Given the description of an element on the screen output the (x, y) to click on. 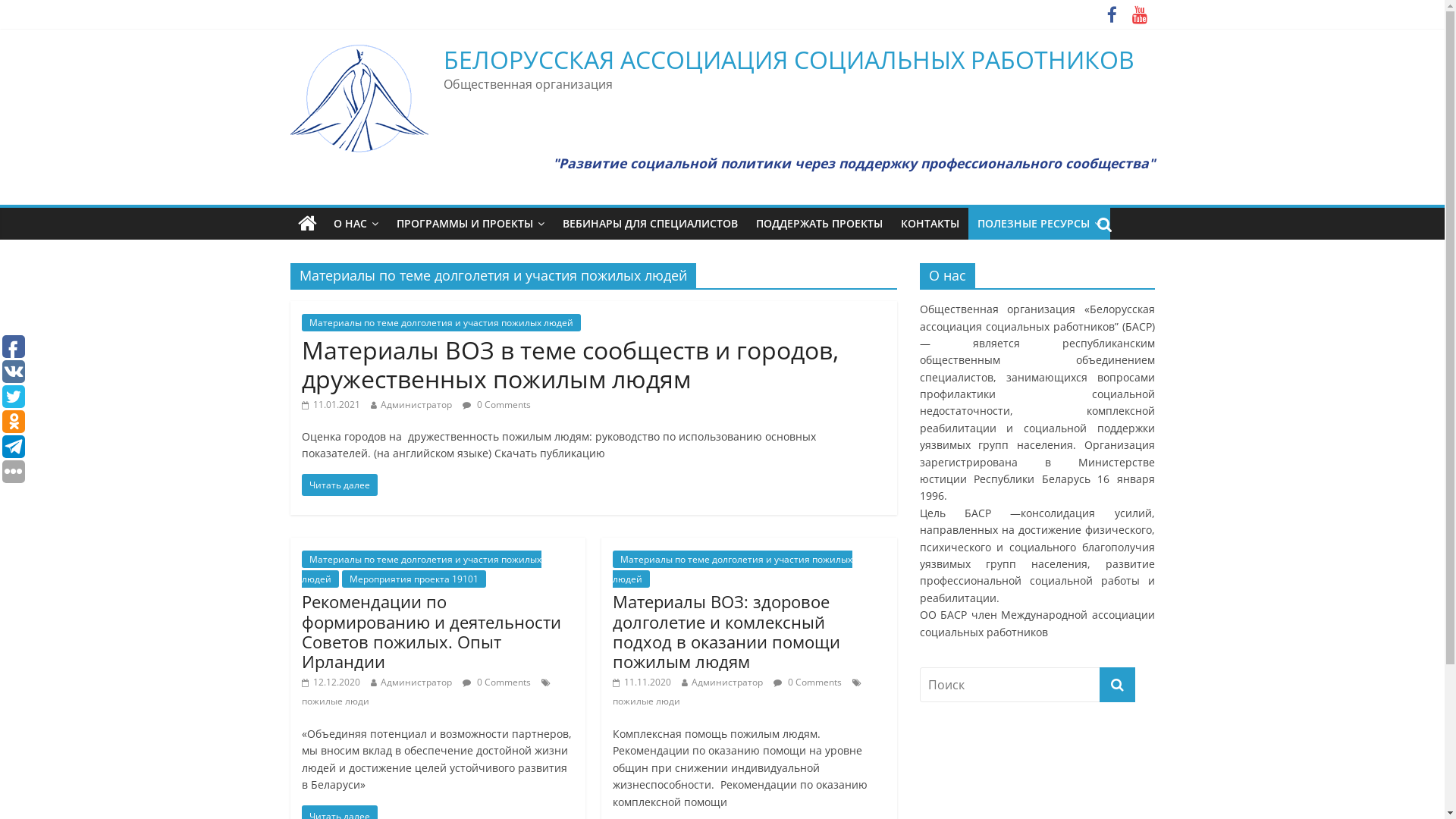
0 Comments Element type: text (496, 681)
11.01.2021 Element type: text (330, 403)
0 Comments Element type: text (496, 403)
12.12.2020 Element type: text (330, 681)
0 Comments Element type: text (807, 681)
11.11.2020 Element type: text (641, 681)
